Given the description of an element on the screen output the (x, y) to click on. 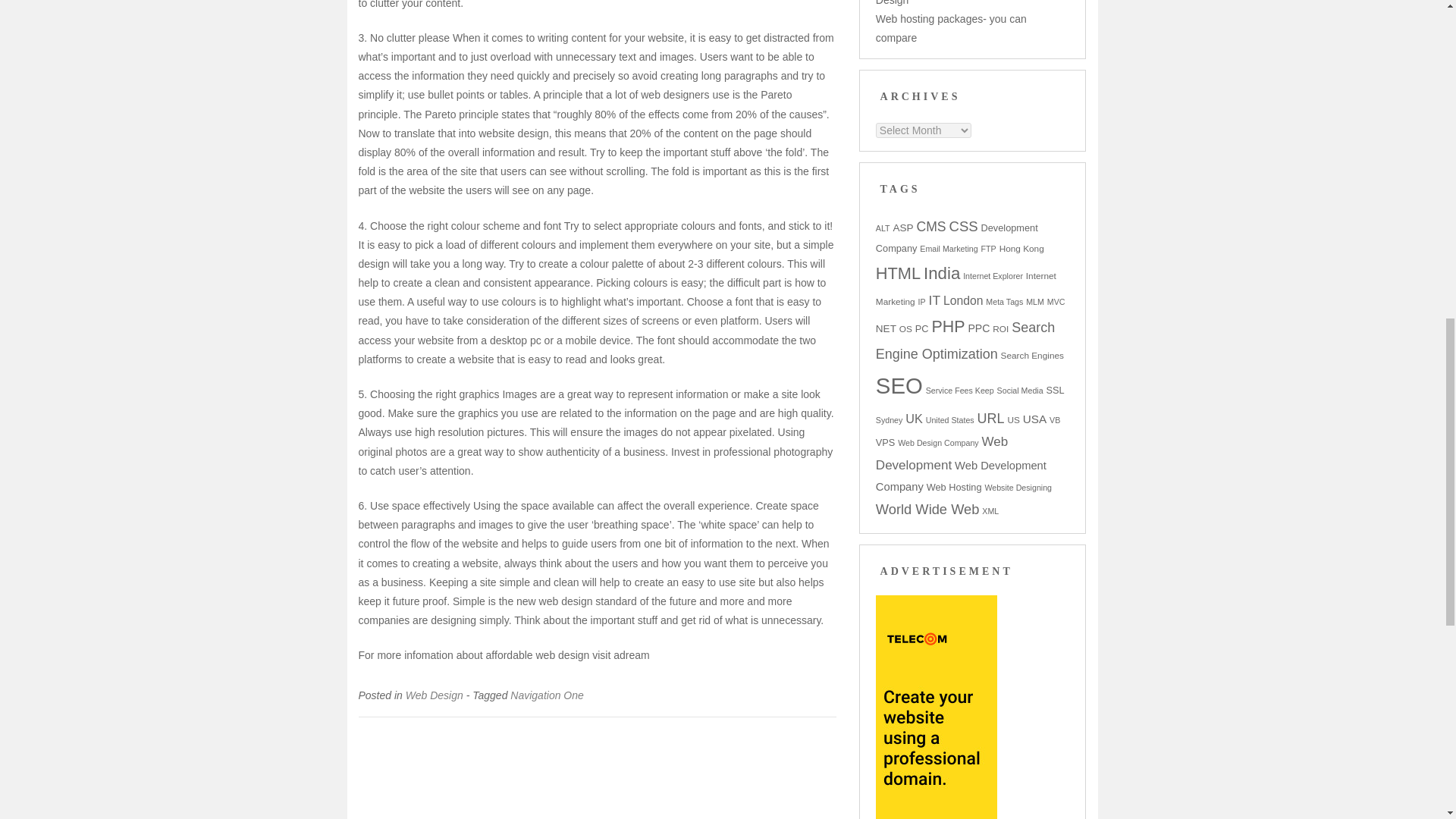
ASP (902, 227)
CMS (929, 226)
Web hosting packages- you can compare (951, 28)
ALT (882, 227)
Navigation One (547, 695)
The Purpose Of E-commerce Web Design (957, 2)
Web Design (434, 695)
